Given the description of an element on the screen output the (x, y) to click on. 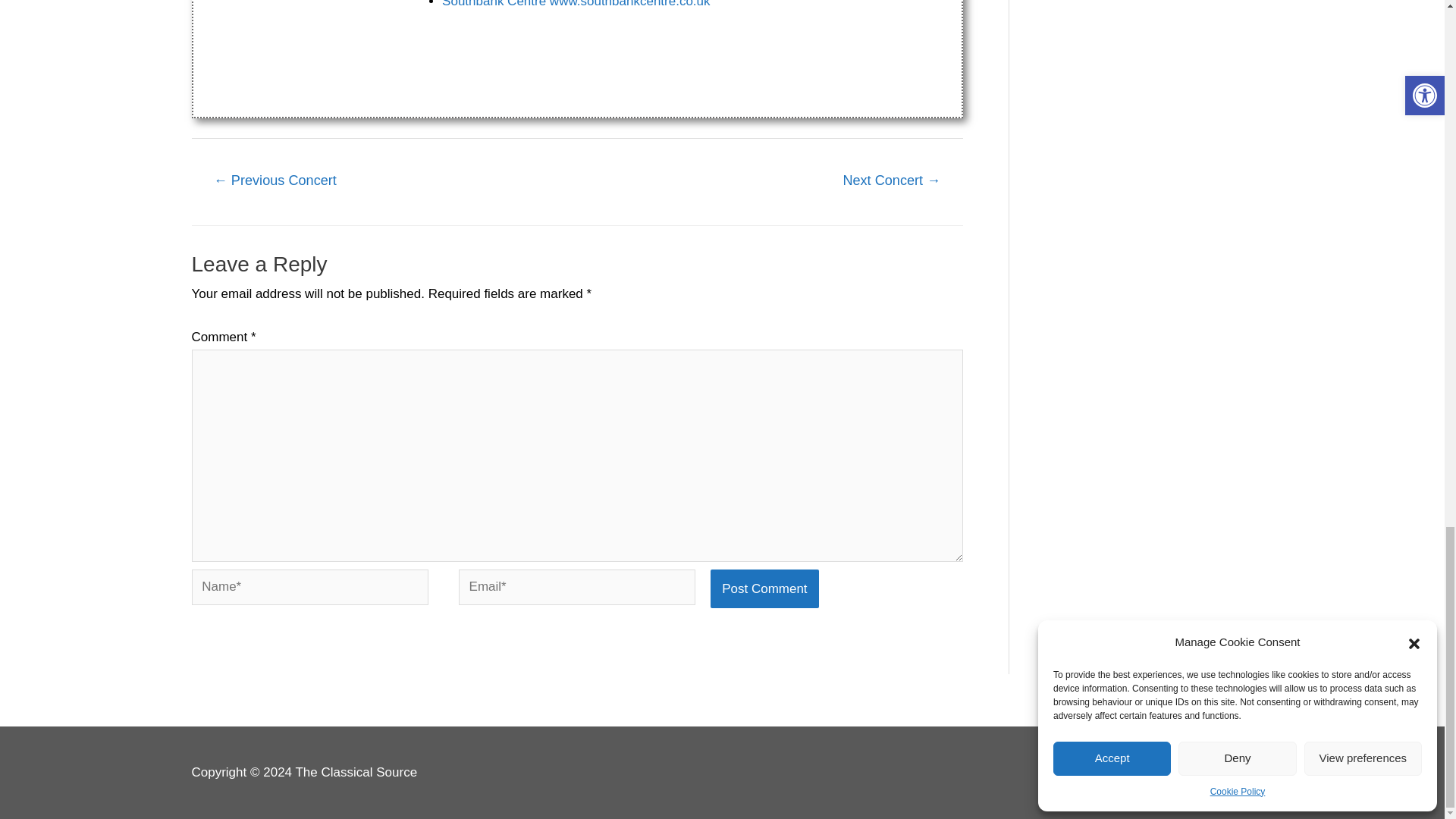
Post Comment (764, 589)
